Given the description of an element on the screen output the (x, y) to click on. 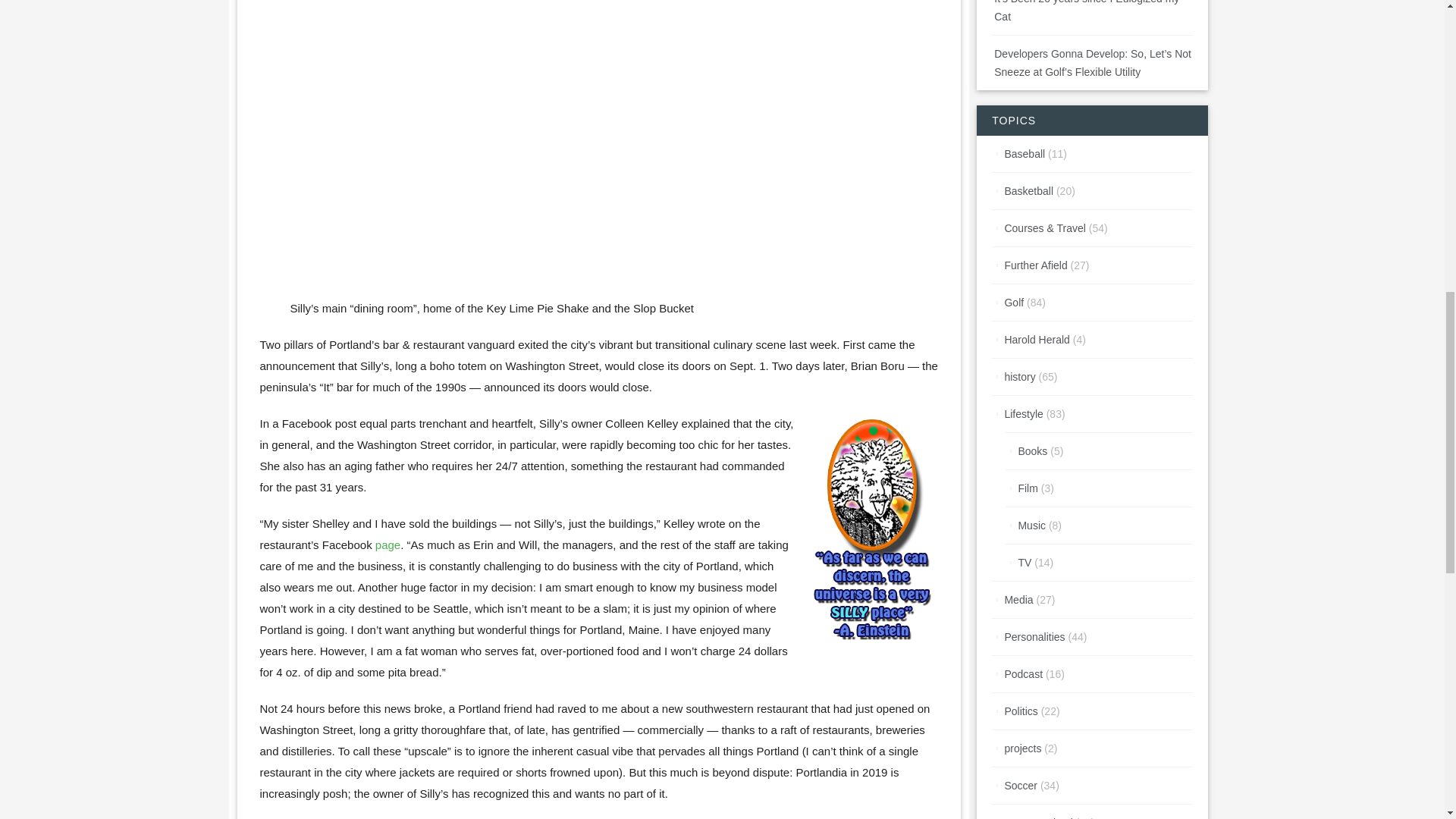
Podcast (1023, 674)
Film (1026, 488)
Harold Herald (1036, 339)
Books (1031, 451)
Media (1018, 599)
Politics (1020, 711)
Music (1031, 525)
Baseball (1024, 153)
page (387, 544)
Personalities (1034, 636)
